Given the description of an element on the screen output the (x, y) to click on. 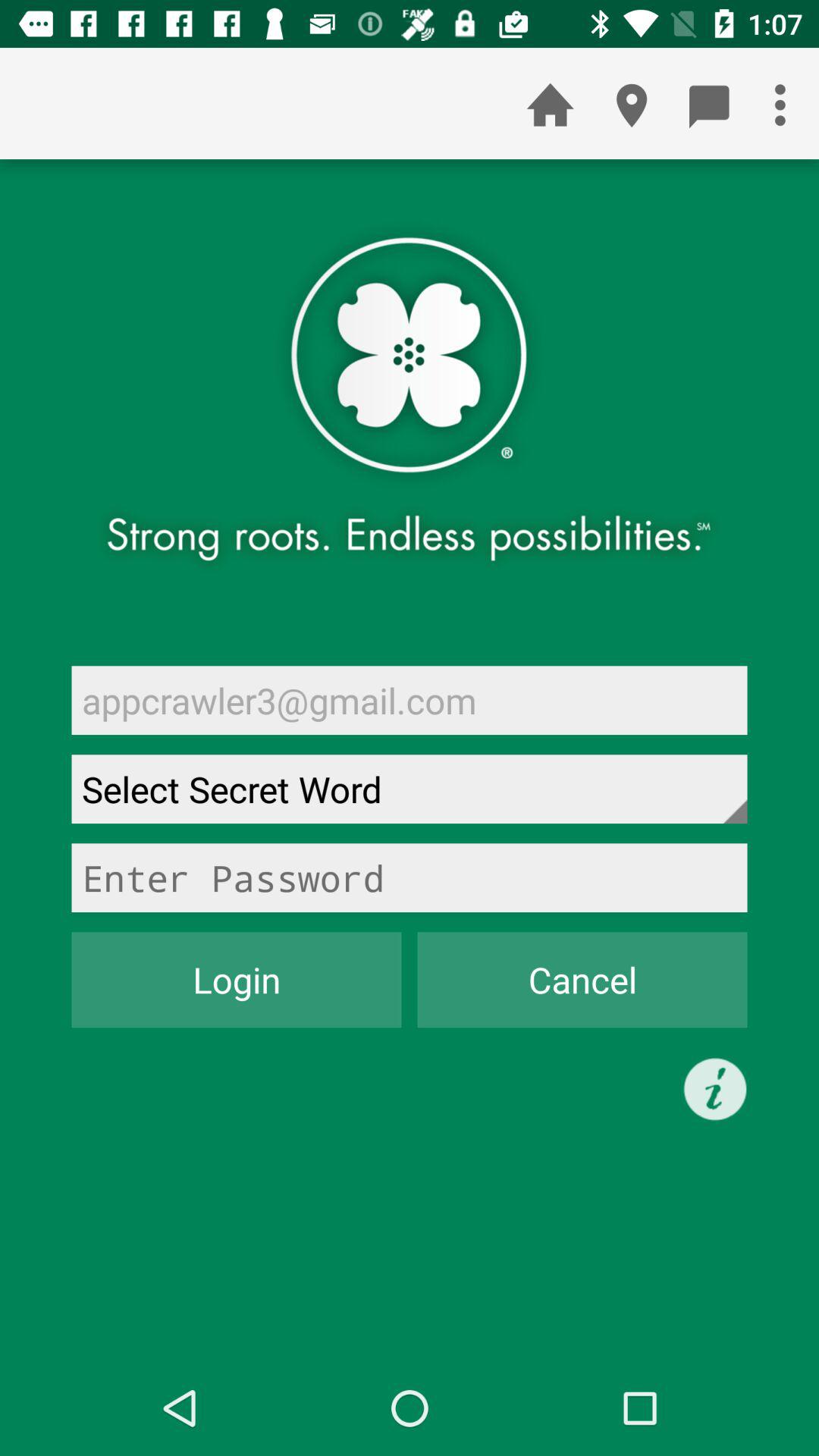
select the icon next to cancel icon (236, 979)
